Given the description of an element on the screen output the (x, y) to click on. 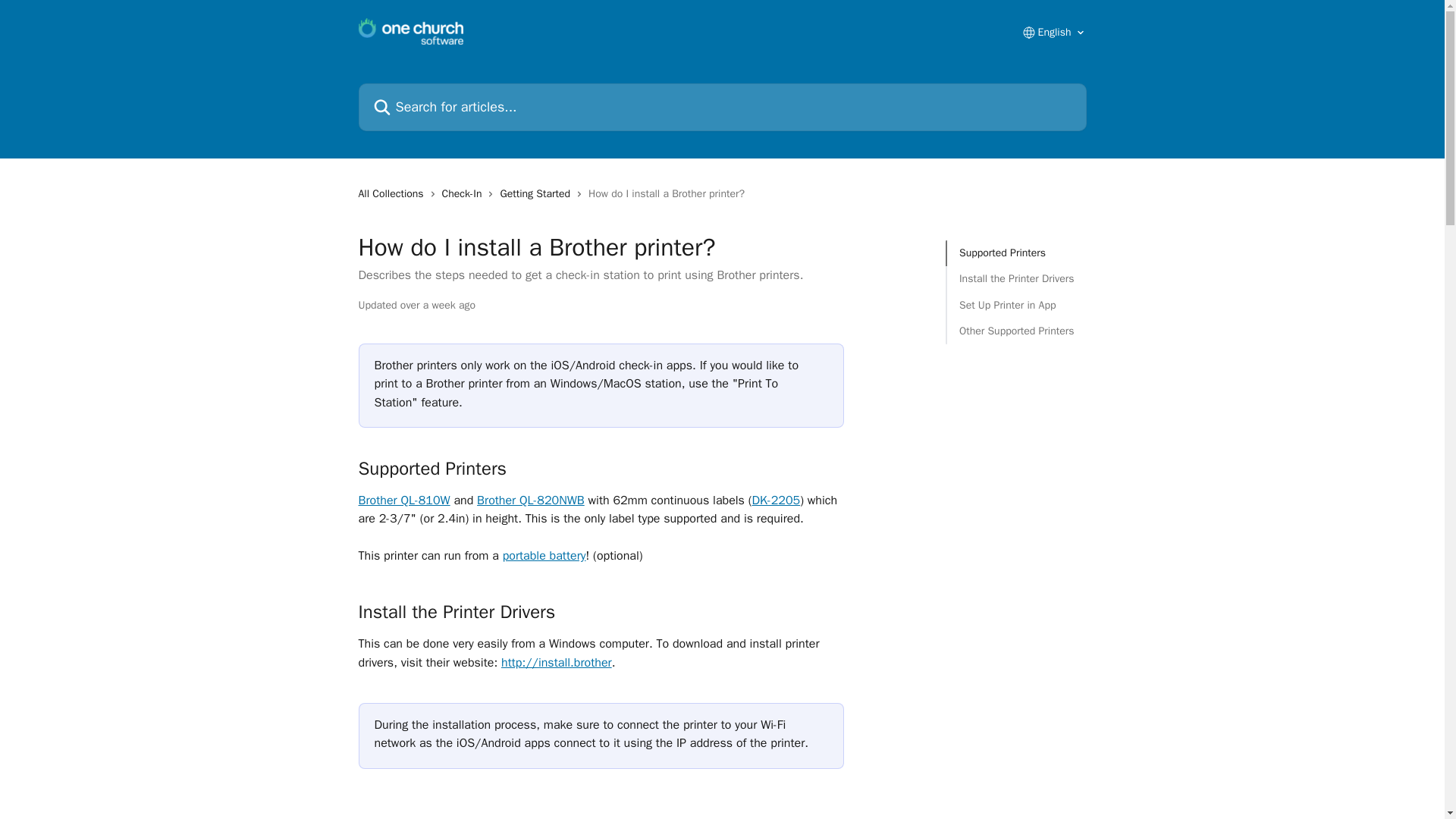
Brother QL-820NWB (531, 500)
Brother QL-810W (403, 500)
Set Up Printer in App (1016, 305)
Getting Started (537, 193)
DK-2205 (776, 500)
All Collections (393, 193)
Other Supported Printers (1016, 330)
Supported Printers (1016, 252)
Install the Printer Drivers (1016, 279)
portable battery (544, 555)
Check-In (464, 193)
